Given the description of an element on the screen output the (x, y) to click on. 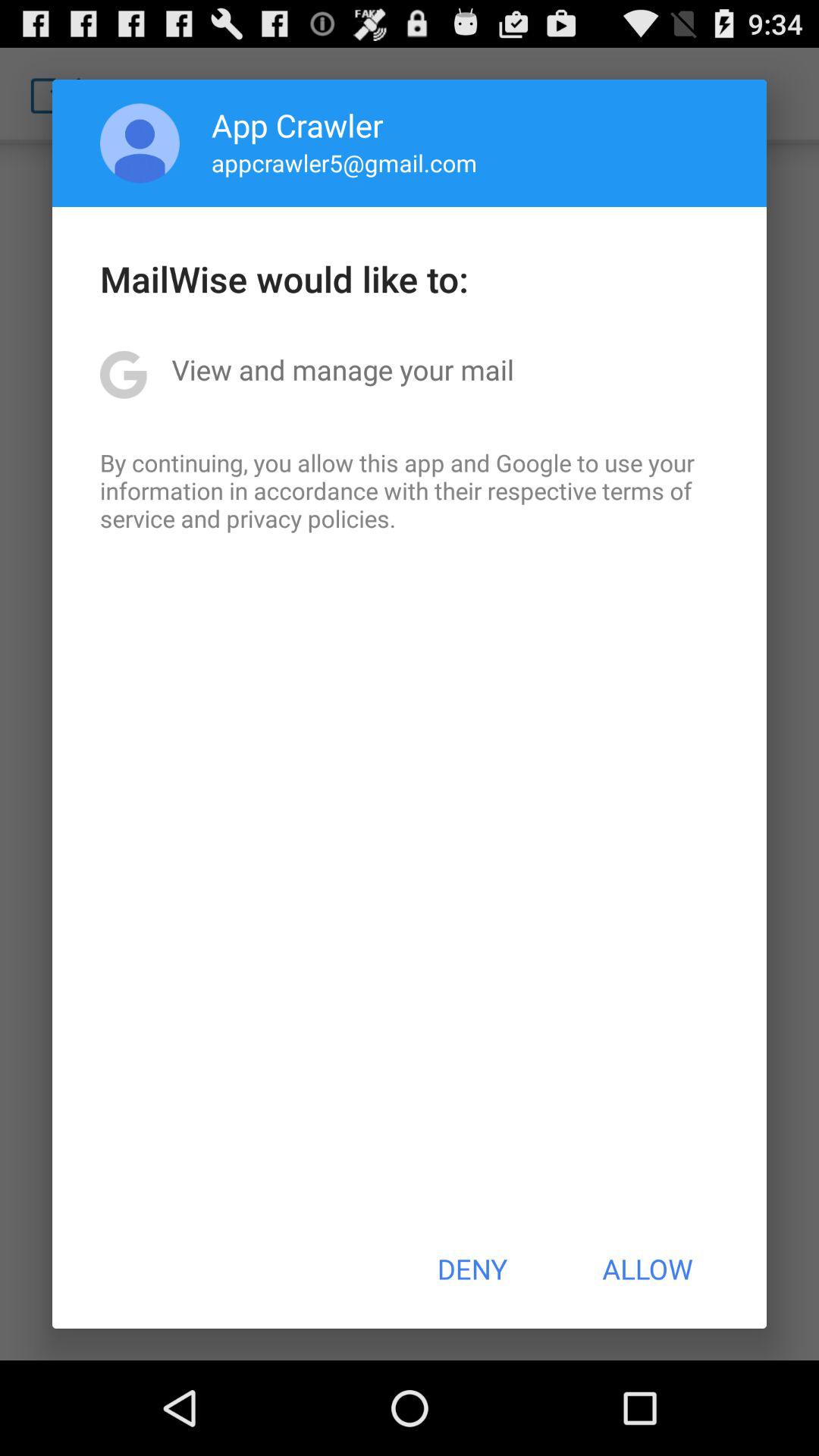
choose app crawler item (297, 124)
